Given the description of an element on the screen output the (x, y) to click on. 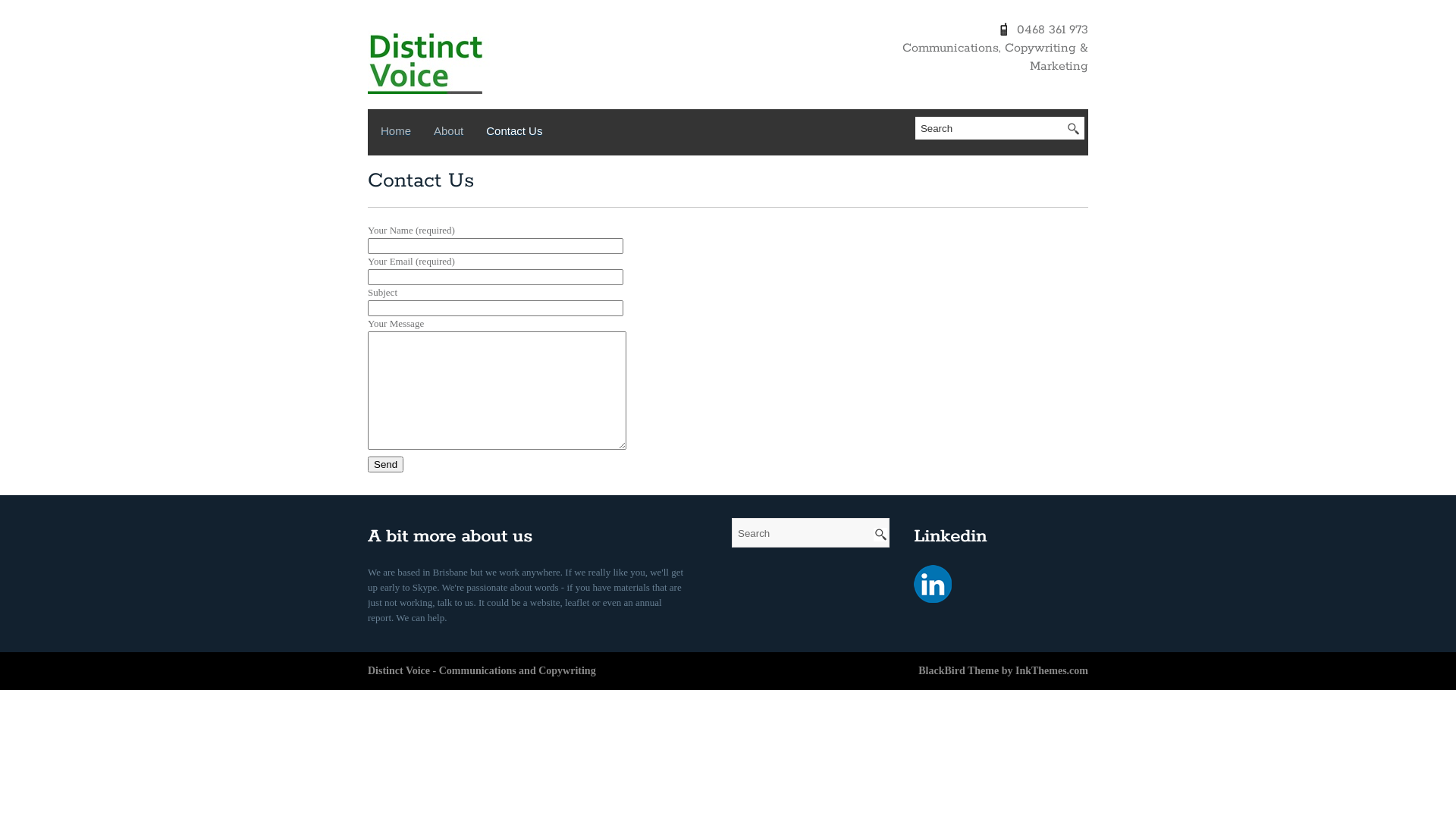
Home Element type: text (395, 133)
Contact Us Element type: text (513, 133)
About Element type: text (448, 133)
Send Element type: text (385, 464)
BlackBird Theme by InkThemes.com Element type: text (1003, 670)
